Given the description of an element on the screen output the (x, y) to click on. 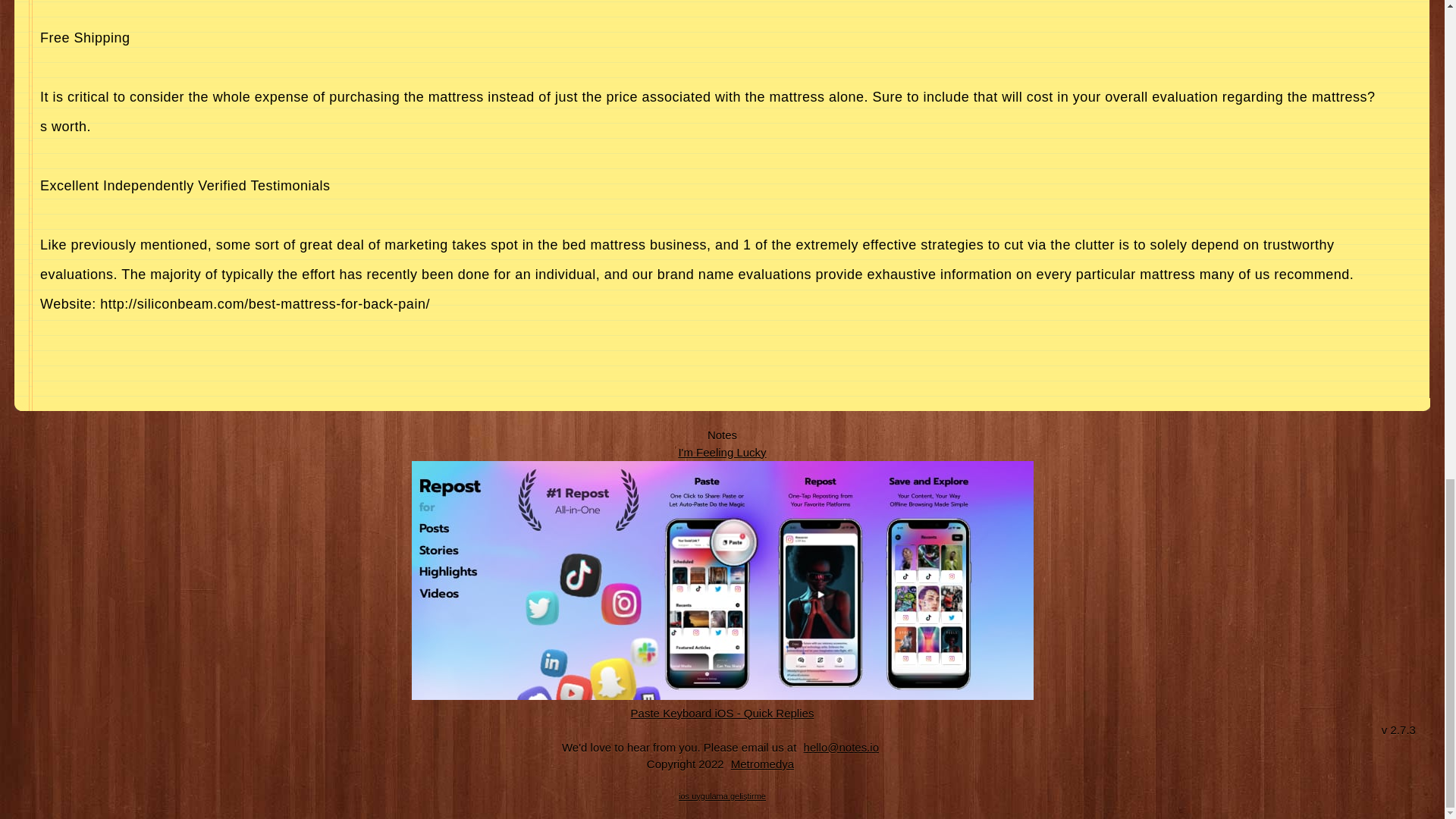
Feeling Luck (722, 451)
Metromedya (761, 763)
Quick Replies iOS App Web Site (722, 712)
I'm Feeling Lucky (722, 451)
Paste Keyboard iOS - Quick Replies (722, 712)
